Given the description of an element on the screen output the (x, y) to click on. 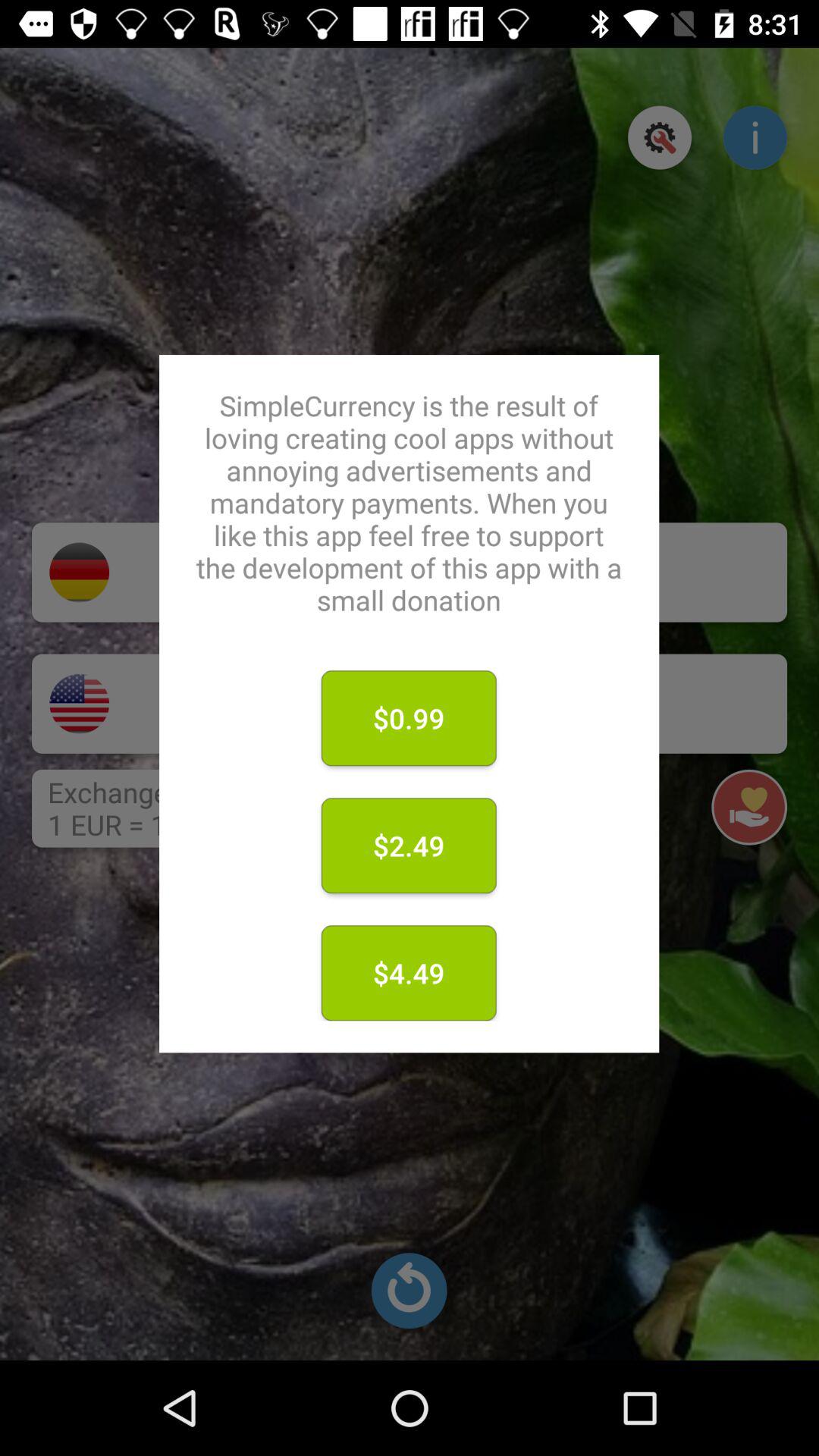
country currency symbol (79, 703)
